Given the description of an element on the screen output the (x, y) to click on. 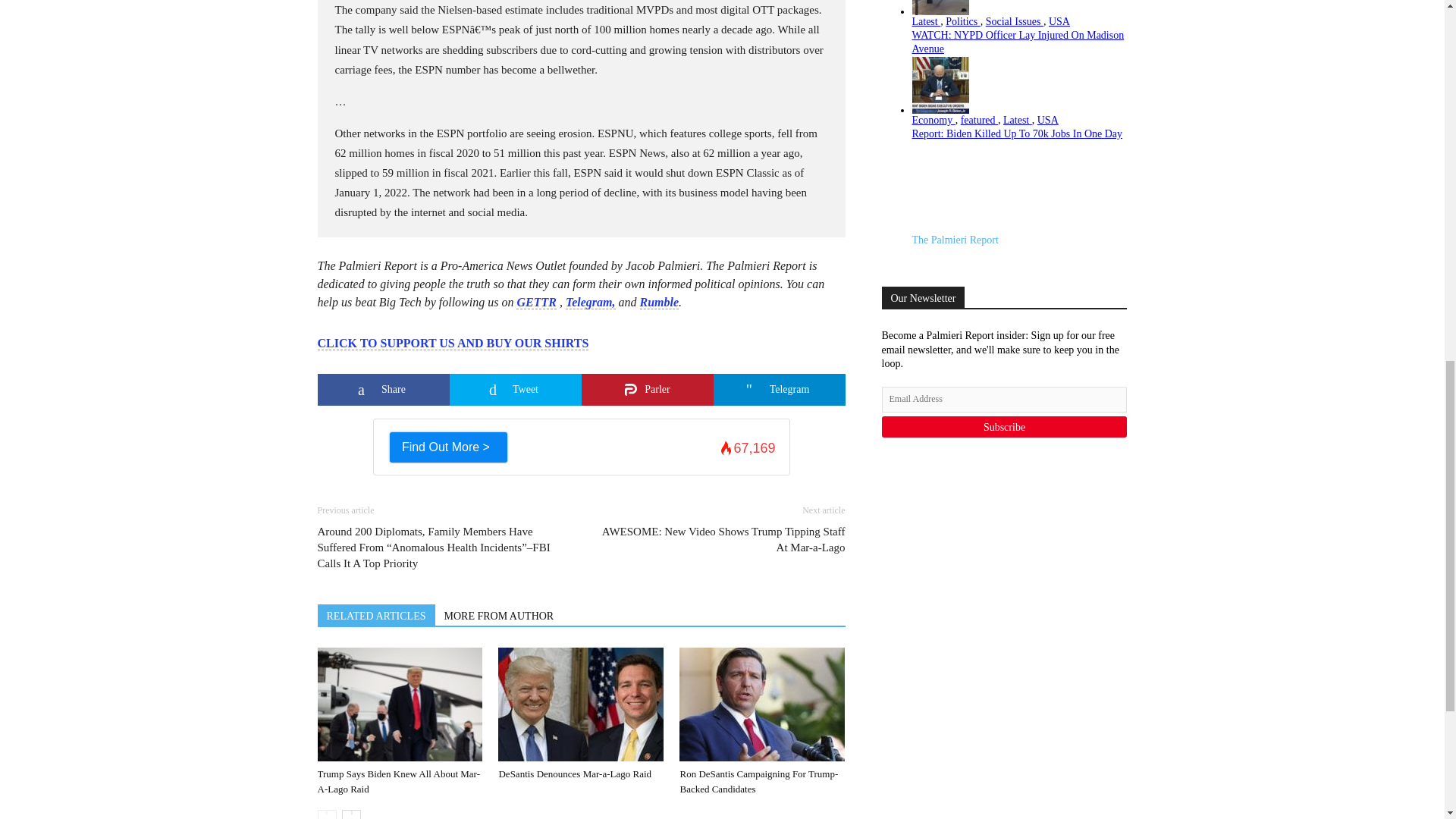
Share on Parler (646, 389)
Share on Telegram (778, 389)
Share on Share (382, 389)
Share on Tweet (514, 389)
Trump Says Biden Knew All About Mar-A-Lago Raid (399, 704)
